Given the description of an element on the screen output the (x, y) to click on. 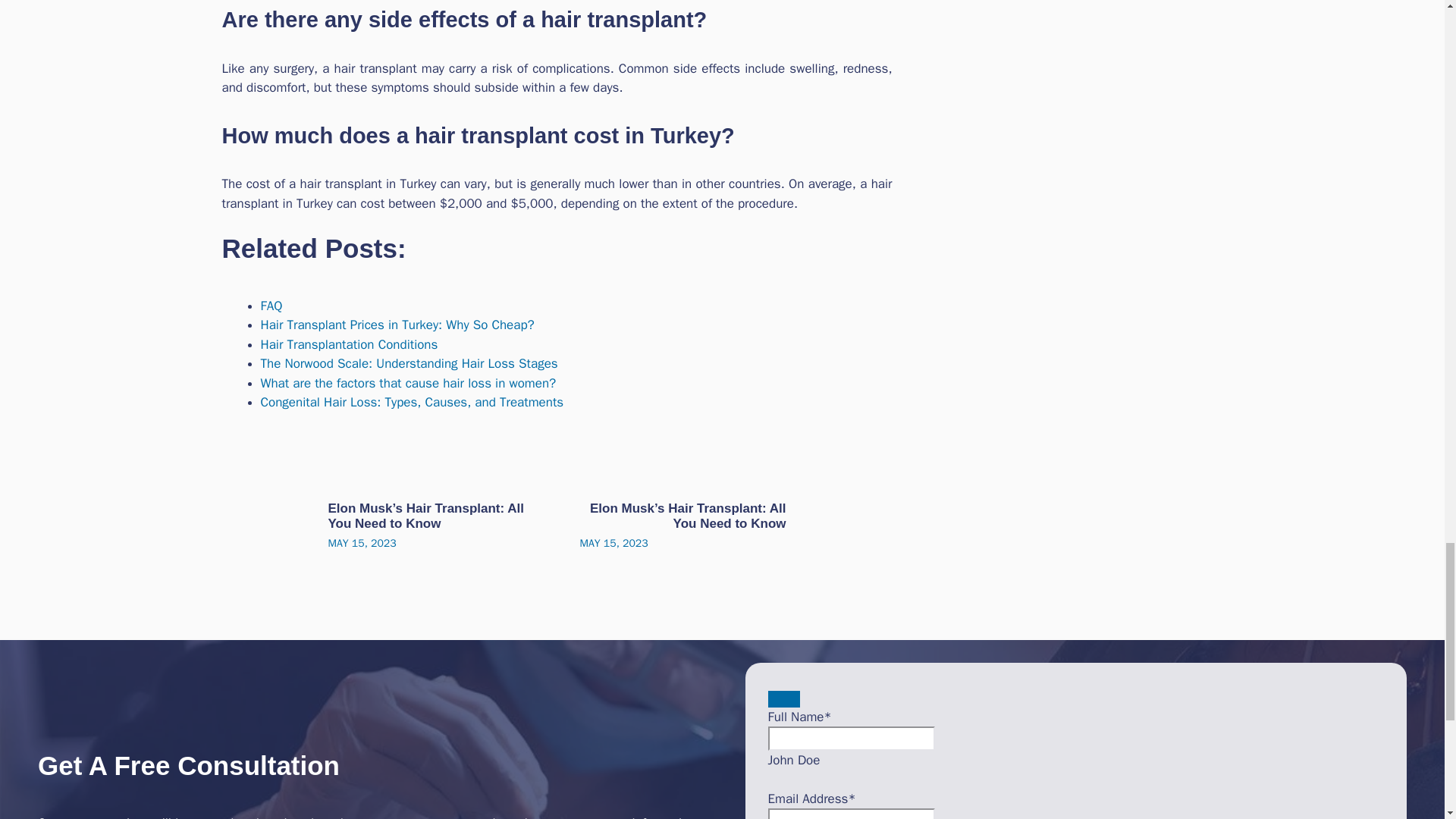
What are the factors that cause hair loss in women? (408, 383)
Hair Transplant Prices in Turkey: Why So Cheap? (397, 324)
Hair Transplantation Conditions (349, 344)
The Norwood Scale: Understanding Hair Loss Stages (408, 363)
FAQ (271, 305)
